Given the description of an element on the screen output the (x, y) to click on. 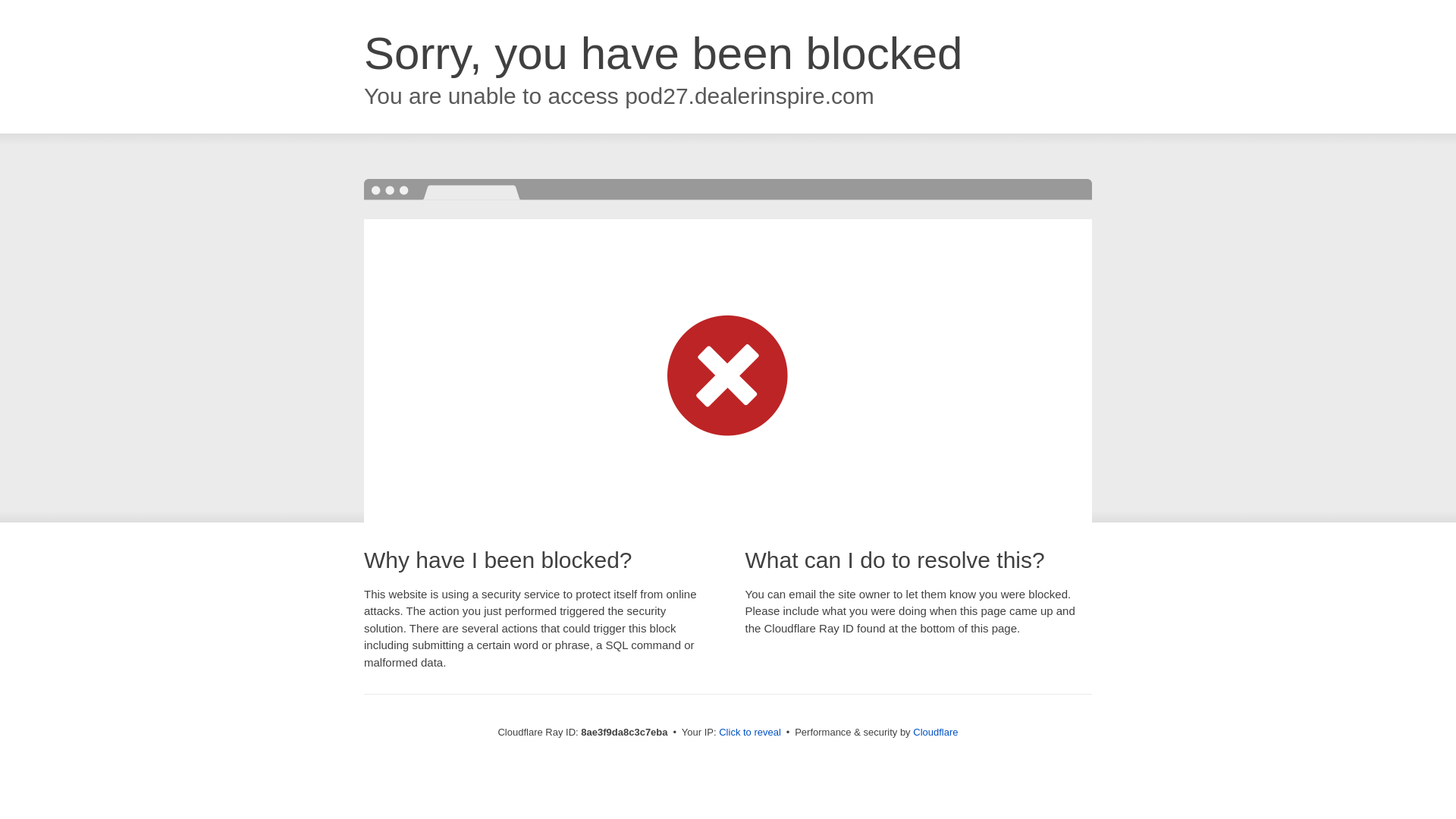
Click to reveal (749, 732)
Cloudflare (935, 731)
